Given the description of an element on the screen output the (x, y) to click on. 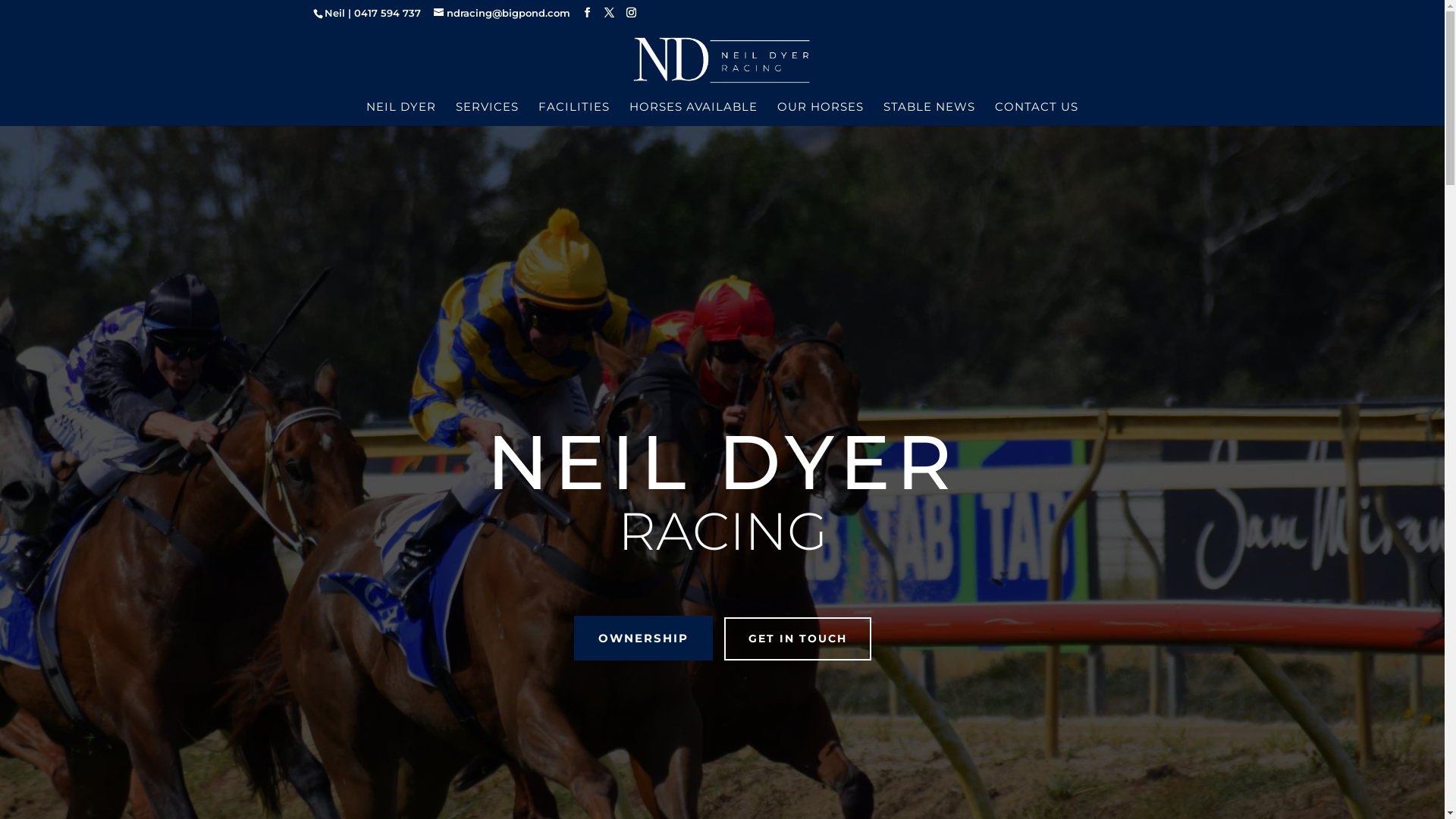
SERVICES Element type: text (486, 113)
OWNERSHIP Element type: text (642, 638)
FACILITIES Element type: text (573, 113)
OUR HORSES Element type: text (820, 113)
HORSES AVAILABLE Element type: text (693, 113)
STABLE NEWS Element type: text (929, 113)
CONTACT US Element type: text (1036, 113)
NEIL DYER Element type: text (401, 113)
Neil | 0417 594 737 Element type: text (372, 12)
ndracing@bigpond.com Element type: text (501, 12)
GET IN TOUCH Element type: text (796, 639)
